Given the description of an element on the screen output the (x, y) to click on. 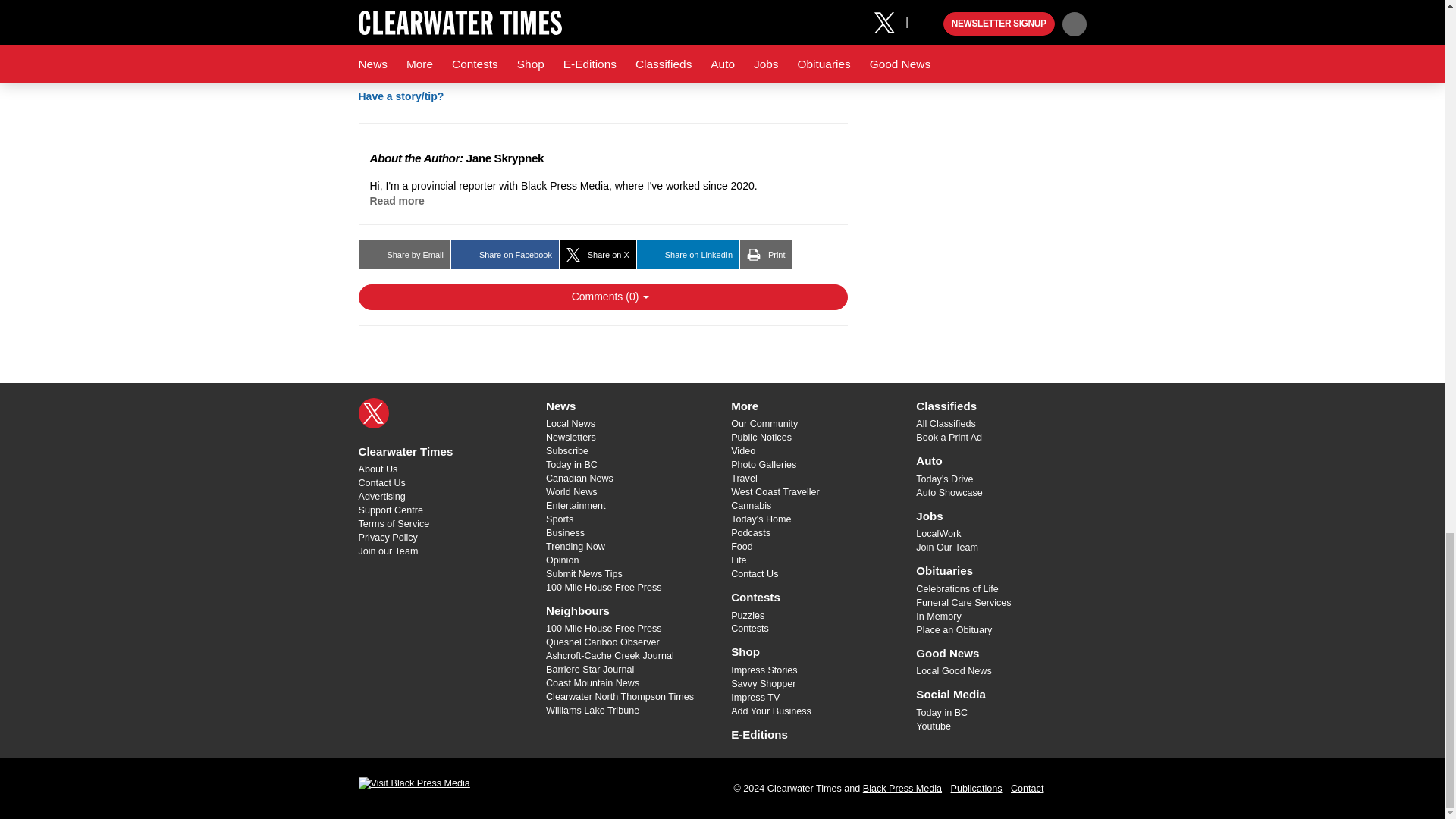
X (373, 412)
Show Comments (602, 297)
